Given the description of an element on the screen output the (x, y) to click on. 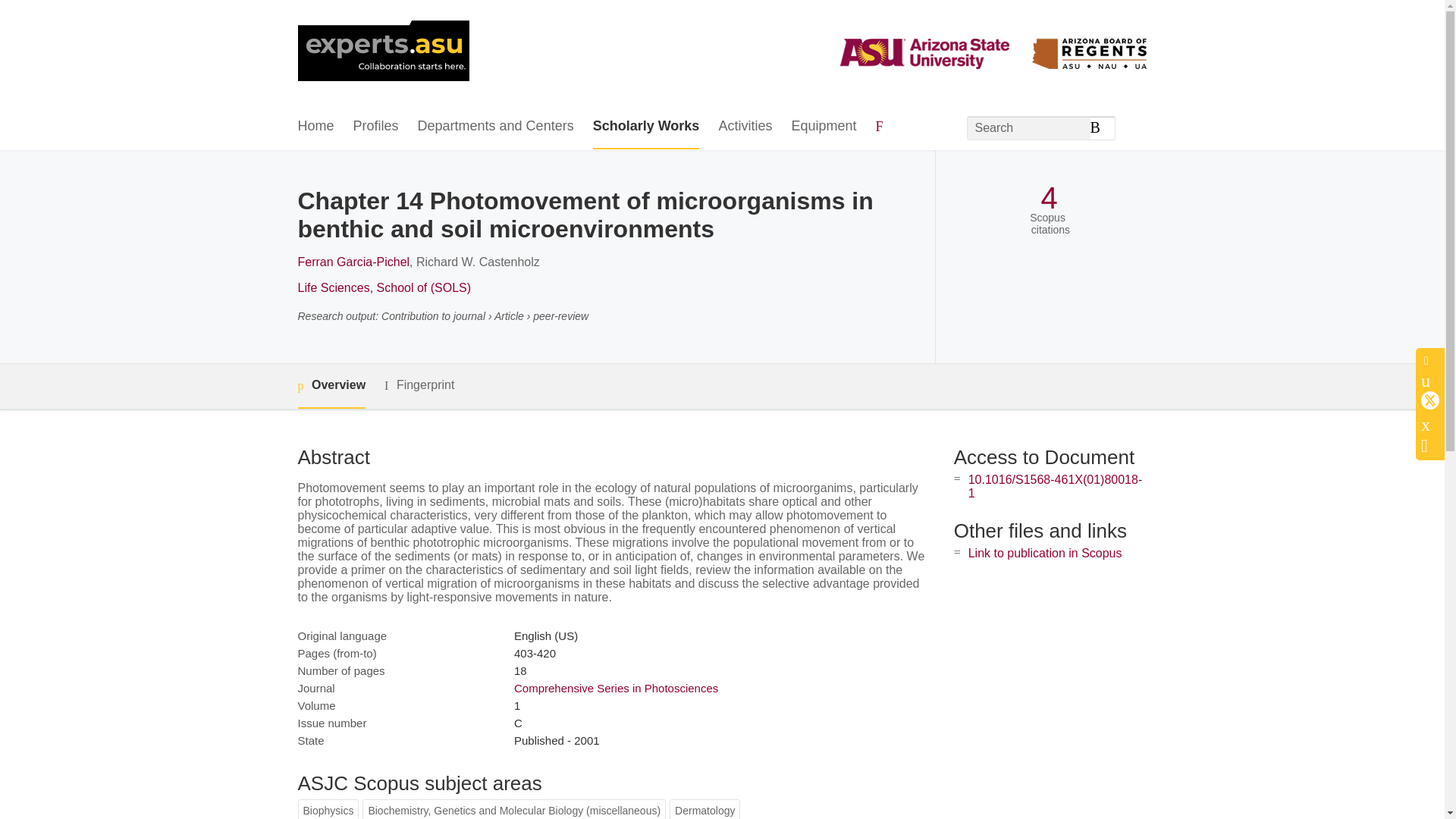
Profiles (375, 126)
Arizona State University Home (382, 52)
Link to publication in Scopus (1045, 553)
Fingerprint (419, 385)
Comprehensive Series in Photosciences (615, 687)
Overview (331, 385)
Activities (744, 126)
Ferran Garcia-Pichel (353, 261)
Equipment (823, 126)
